Given the description of an element on the screen output the (x, y) to click on. 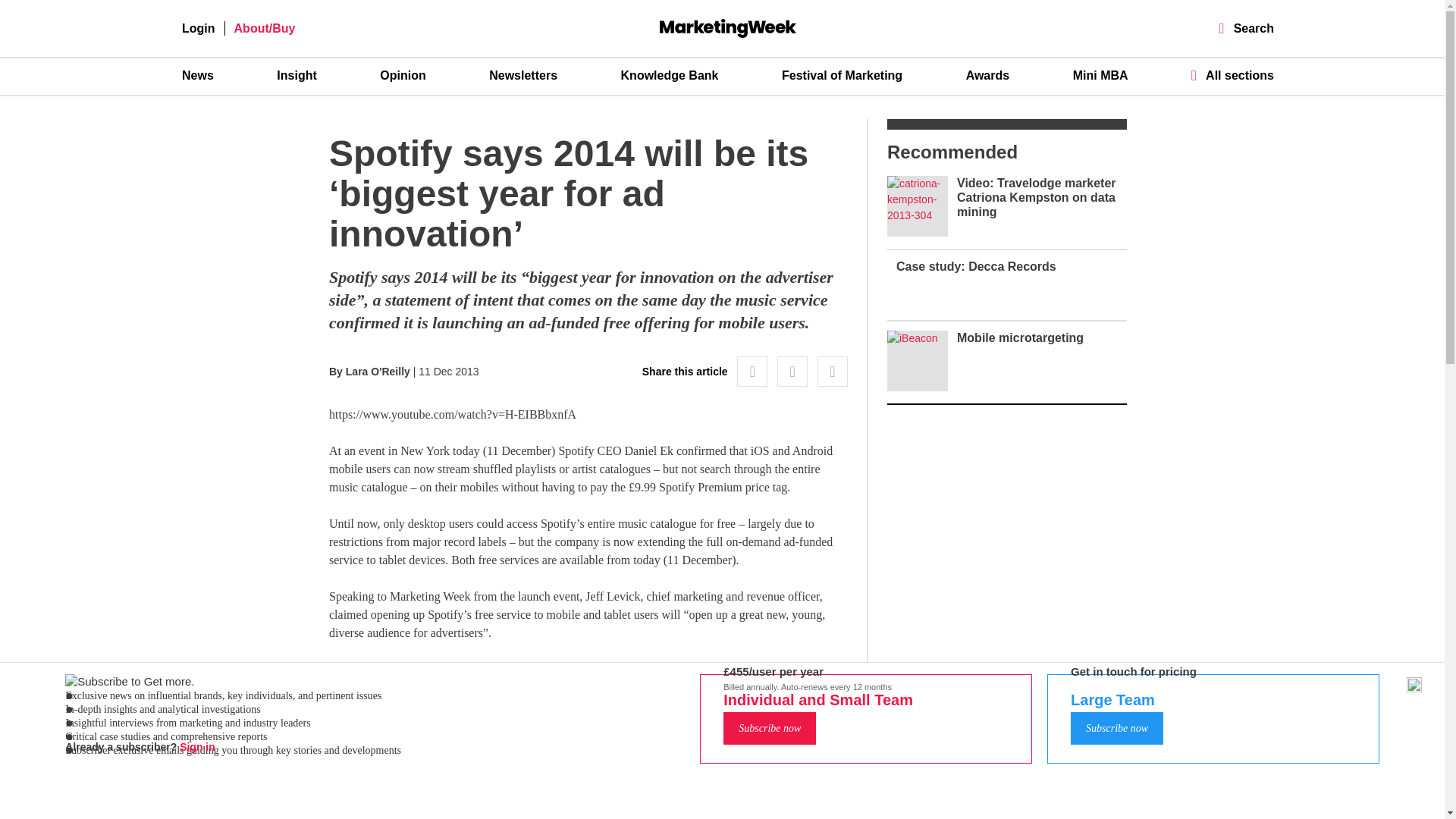
Knowledge Bank (670, 75)
Mini MBA (1100, 75)
Festival of Marketing (841, 75)
Video: Travelodge marketer Catriona Kempston on data mining (1036, 197)
Posts by Lara O'Reilly (378, 371)
Case study: Decca Records (976, 266)
Newsletters (523, 75)
All sections (1232, 74)
Lara O'Reilly (378, 371)
Search (1247, 28)
Search (1247, 28)
Awards (988, 75)
All sections (1232, 74)
News (198, 75)
Mobile microtargeting (1019, 337)
